Given the description of an element on the screen output the (x, y) to click on. 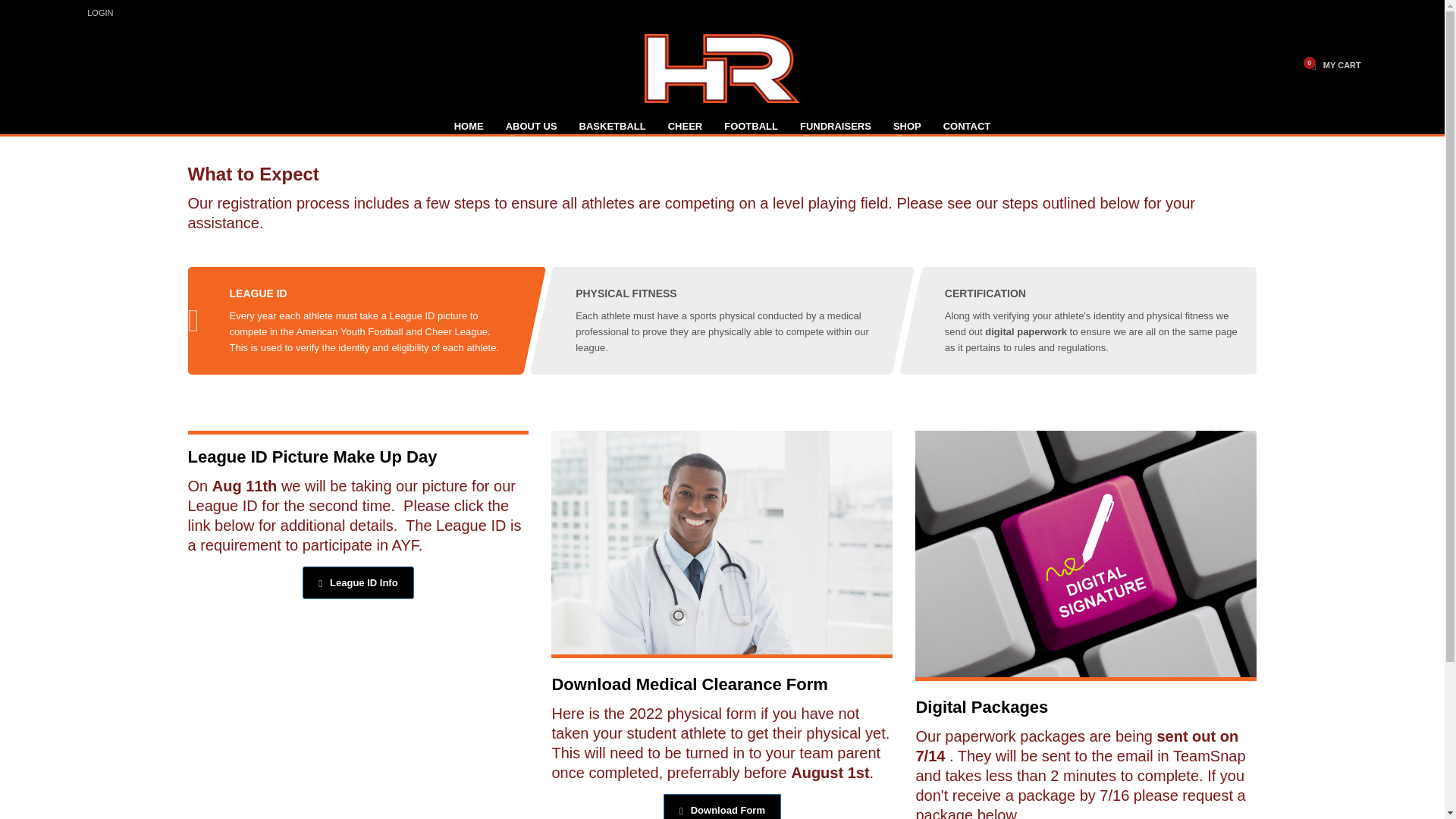
FOOTBALL (750, 126)
Click me (357, 582)
LOGIN (100, 12)
Click me (721, 806)
CHEER (685, 126)
View your shopping cart (1332, 65)
SHOP (906, 126)
ABOUT US (531, 126)
Hampton Roads Youth Sports Association (722, 68)
League ID Info (357, 582)
